Given the description of an element on the screen output the (x, y) to click on. 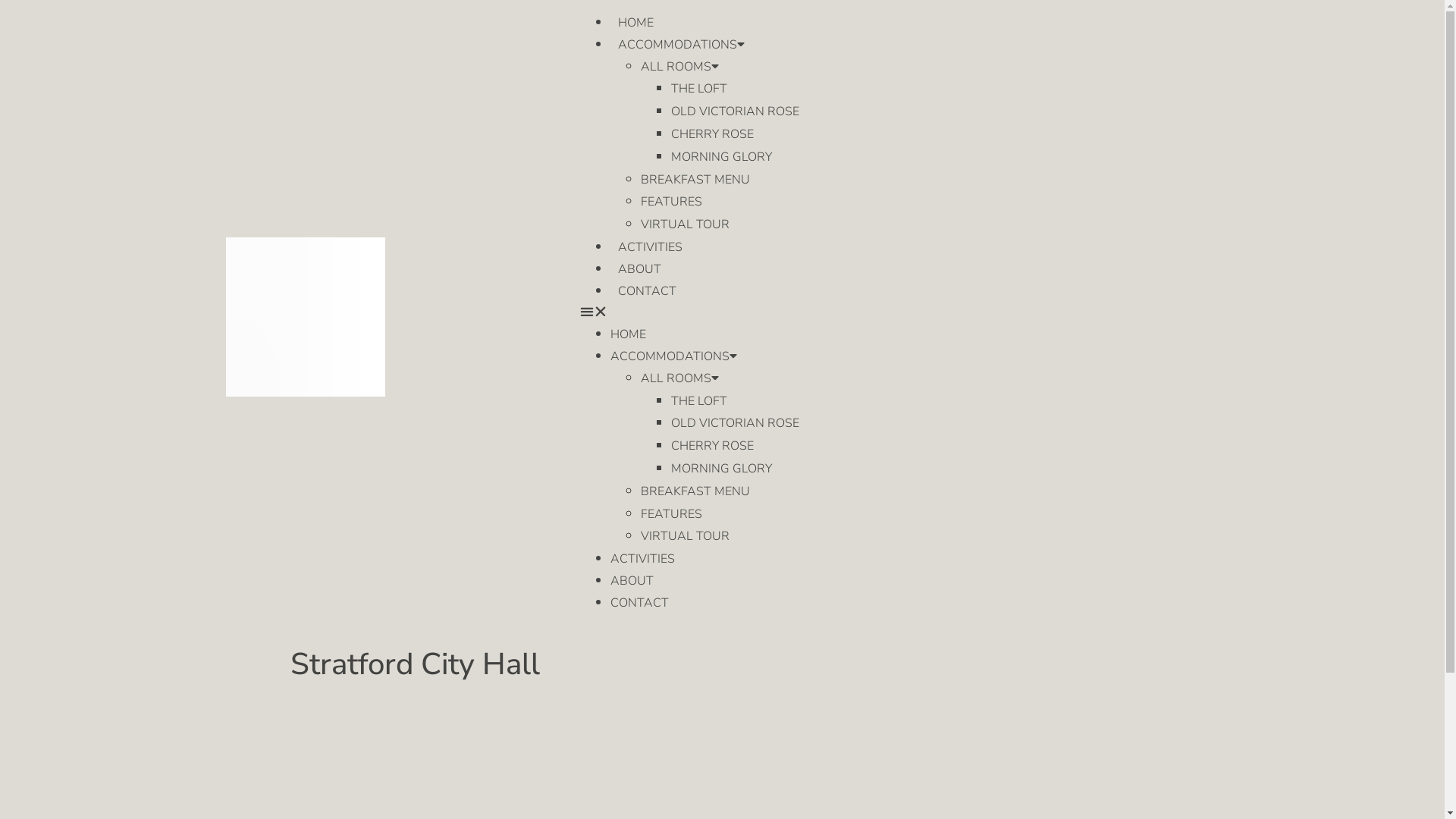
ALL ROOMS Element type: text (679, 66)
HOME Element type: text (628, 334)
MORNING GLORY Element type: text (721, 156)
CHERRY ROSE Element type: text (712, 133)
MORNING GLORY Element type: text (721, 468)
OLD VICTORIAN ROSE Element type: text (735, 111)
ABOUT Element type: text (631, 580)
HOME Element type: text (635, 22)
FEATURES Element type: text (671, 201)
THE LOFT Element type: text (699, 88)
ABOUT Element type: text (639, 268)
CHERRY ROSE Element type: text (712, 445)
BREAKFAST MENU Element type: text (694, 179)
CONTACT Element type: text (639, 602)
BREAKFAST MENU Element type: text (694, 491)
OLD VICTORIAN ROSE Element type: text (735, 422)
ALL ROOMS Element type: text (679, 378)
ACTIVITIES Element type: text (650, 246)
VIRTUAL TOUR Element type: text (684, 535)
CONTACT Element type: text (647, 290)
FEATURES Element type: text (671, 513)
ACTIVITIES Element type: text (642, 558)
THE LOFT Element type: text (699, 400)
VIRTUAL TOUR Element type: text (684, 224)
ACCOMMODATIONS Element type: text (673, 356)
ACCOMMODATIONS Element type: text (681, 44)
